Given the description of an element on the screen output the (x, y) to click on. 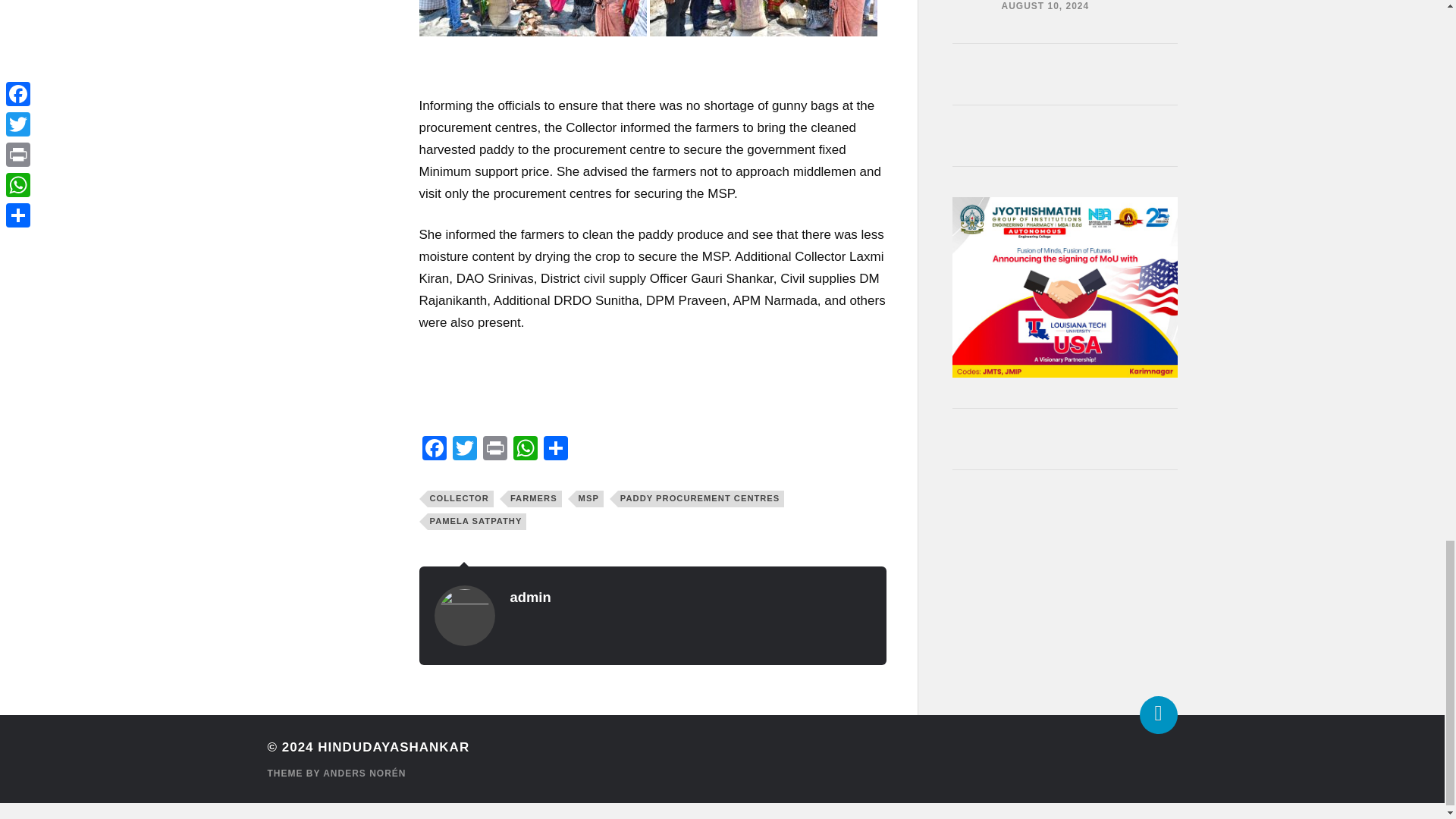
Facebook (433, 449)
Twitter (463, 449)
Print (494, 449)
WhatsApp (524, 449)
WhatsApp (524, 449)
COLLECTOR (460, 498)
Print (494, 449)
Facebook (433, 449)
Twitter (463, 449)
